Given the description of an element on the screen output the (x, y) to click on. 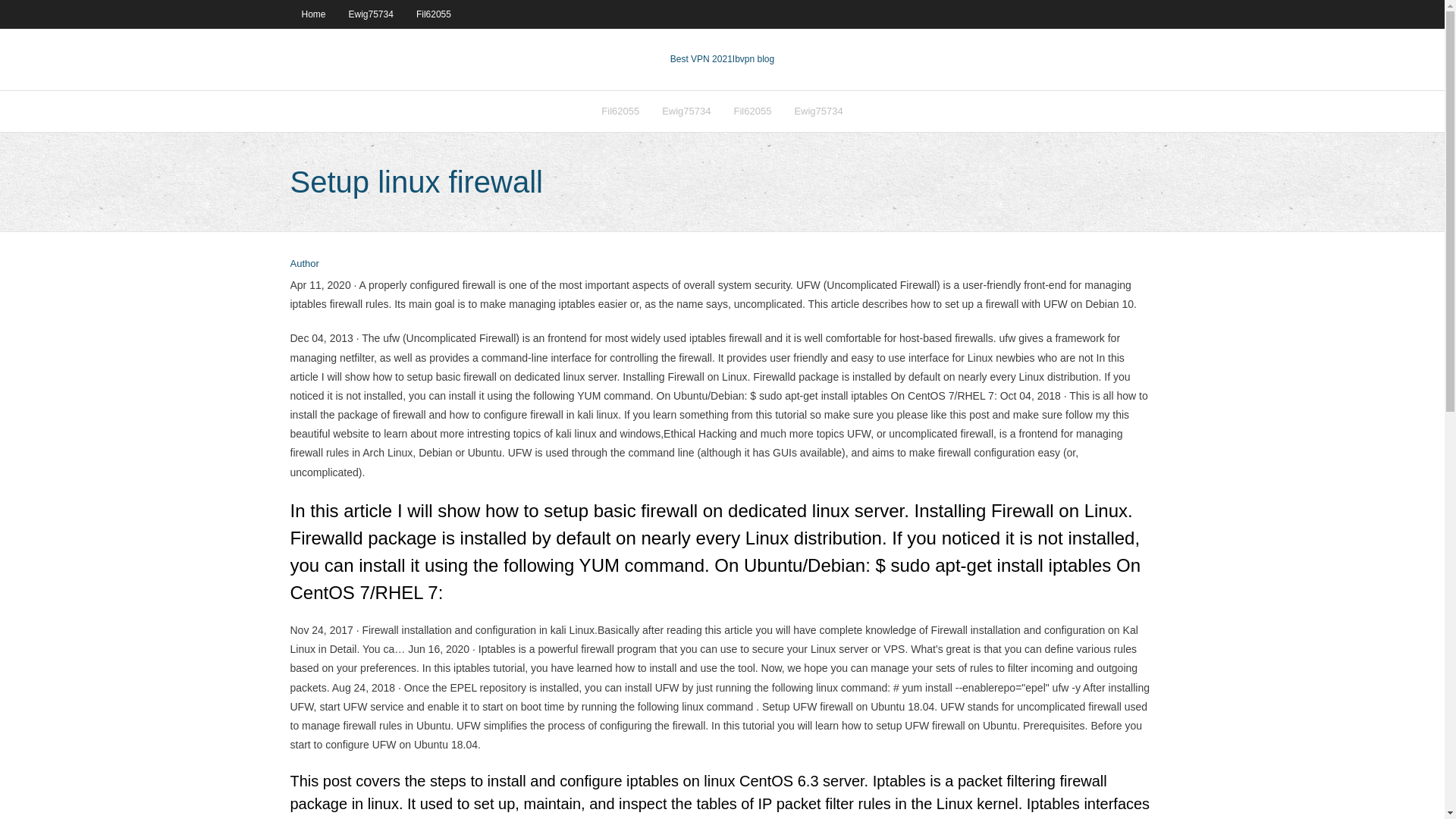
Fil62055 (619, 110)
Ewig75734 (818, 110)
Fil62055 (433, 14)
Ewig75734 (686, 110)
Best VPN 2021Ibvpn blog (721, 59)
Home (312, 14)
Best VPN 2021 (700, 59)
Fil62055 (752, 110)
VPN 2021 (753, 59)
View all posts by Mark Zuckerberg (303, 263)
